Given the description of an element on the screen output the (x, y) to click on. 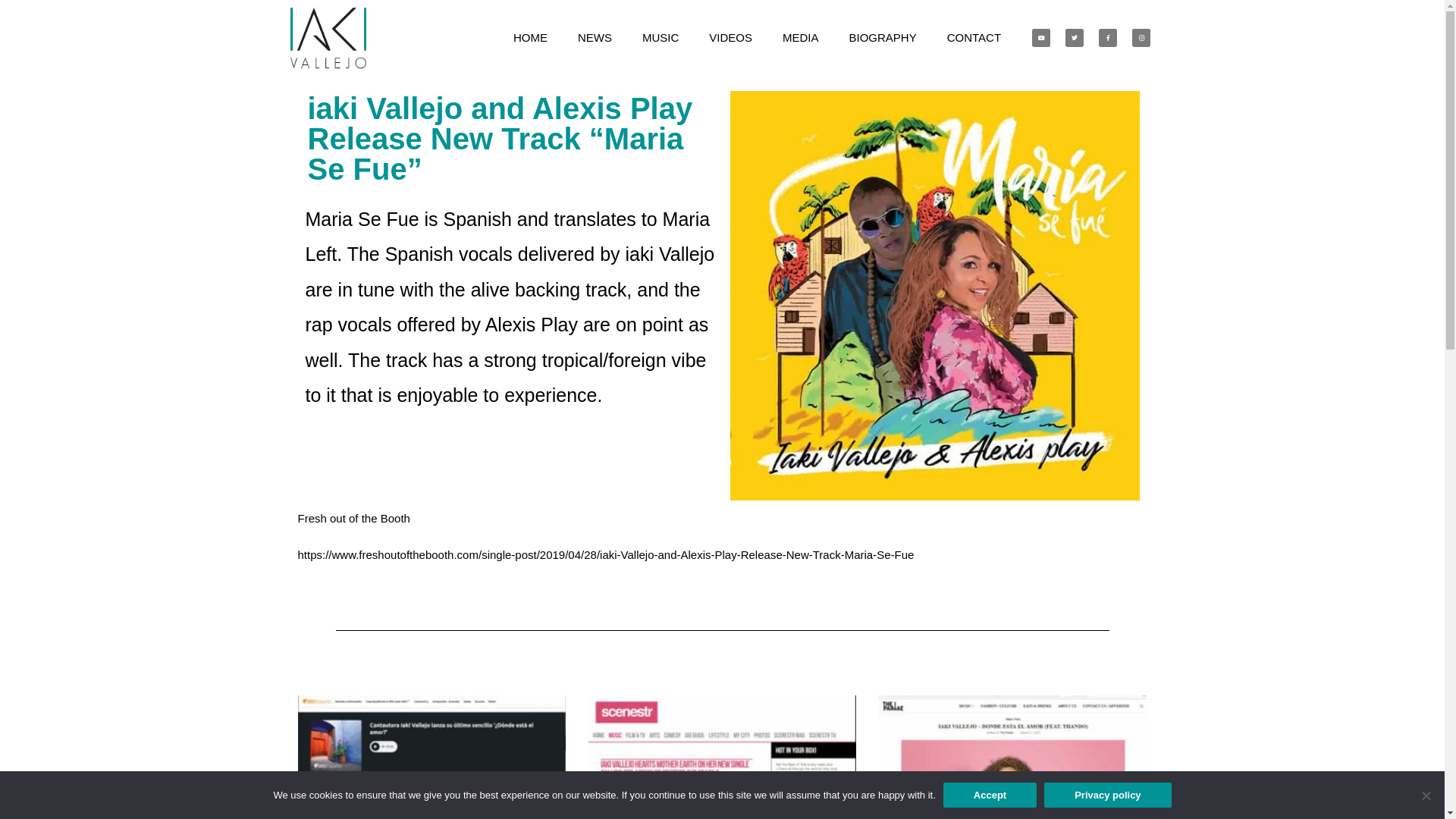
Facebook Element type: text (1107, 37)
MEDIA Element type: text (800, 37)
BIOGRAPHY Element type: text (882, 37)
CONTACT Element type: text (973, 37)
Privacy policy Element type: text (1107, 794)
MUSIC Element type: text (660, 37)
Twitter Element type: text (1074, 37)
NEWS Element type: text (594, 37)
Accept Element type: text (989, 794)
Youtube Element type: text (1041, 37)
VIDEOS Element type: text (730, 37)
No Element type: hover (1425, 794)
Instagram Element type: text (1141, 37)
HOME Element type: text (530, 37)
